Given the description of an element on the screen output the (x, y) to click on. 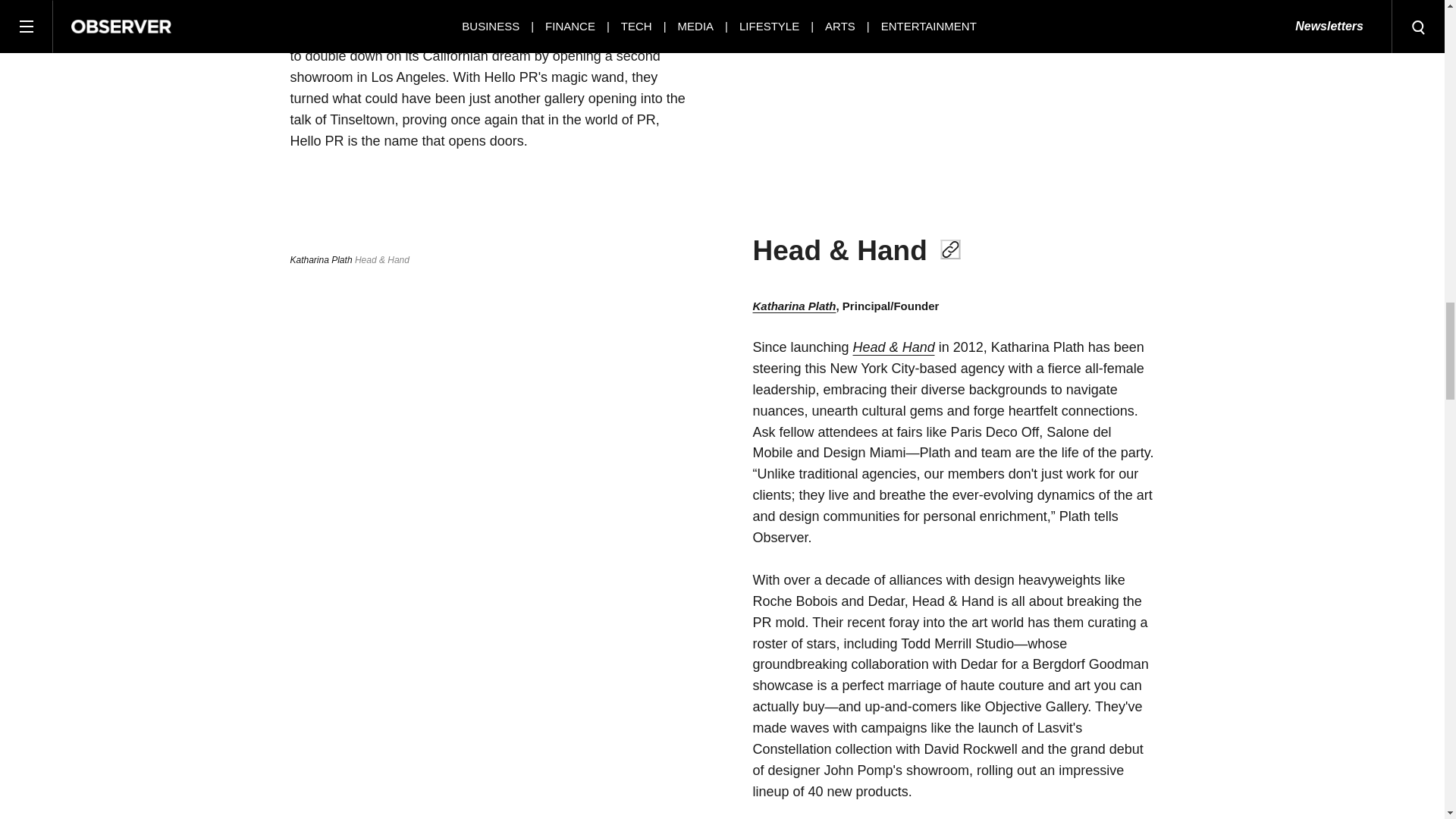
Katharina Plath (793, 305)
